Given the description of an element on the screen output the (x, y) to click on. 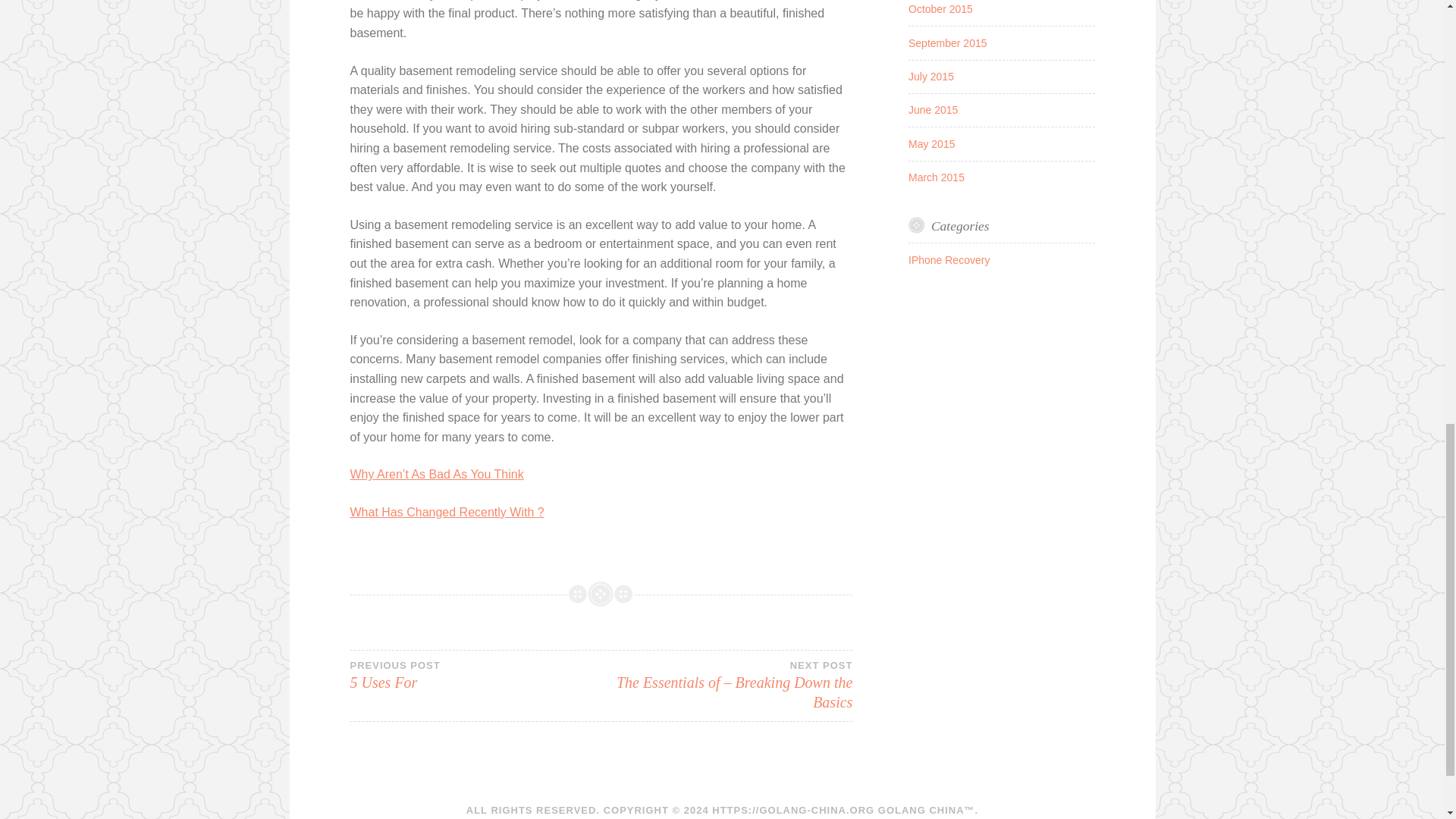
June 2015 (933, 110)
September 2015 (475, 675)
May 2015 (947, 42)
March 2015 (931, 143)
October 2015 (935, 177)
July 2015 (940, 9)
What Has Changed Recently With ? (930, 76)
IPhone Recovery (447, 512)
